Given the description of an element on the screen output the (x, y) to click on. 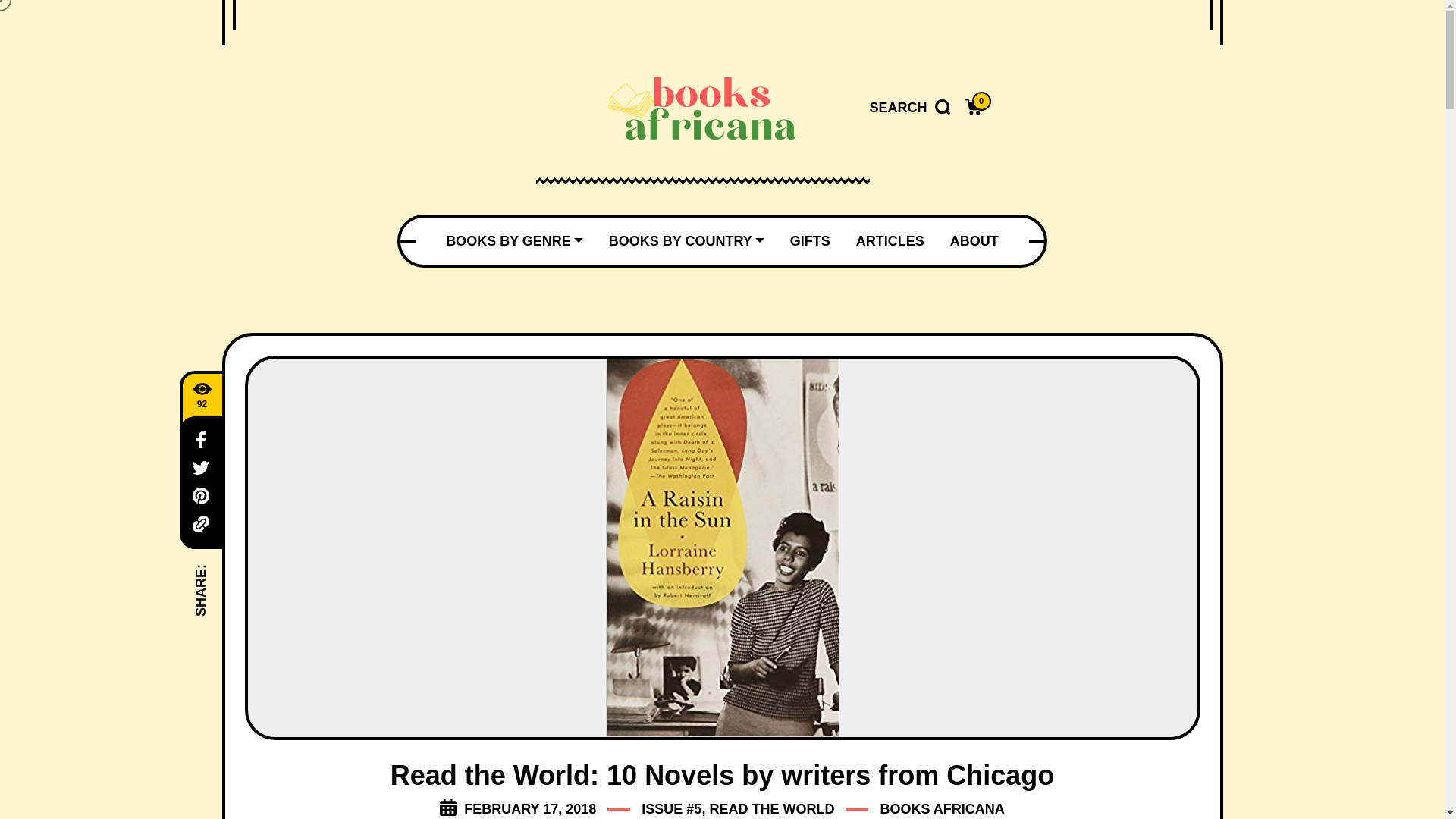
Twitter (200, 467)
Pinterest (200, 495)
SEARCH (909, 107)
0 (974, 107)
Copy Link (200, 523)
Facebook (200, 439)
BOOKS BY GENRE (514, 240)
